Given the description of an element on the screen output the (x, y) to click on. 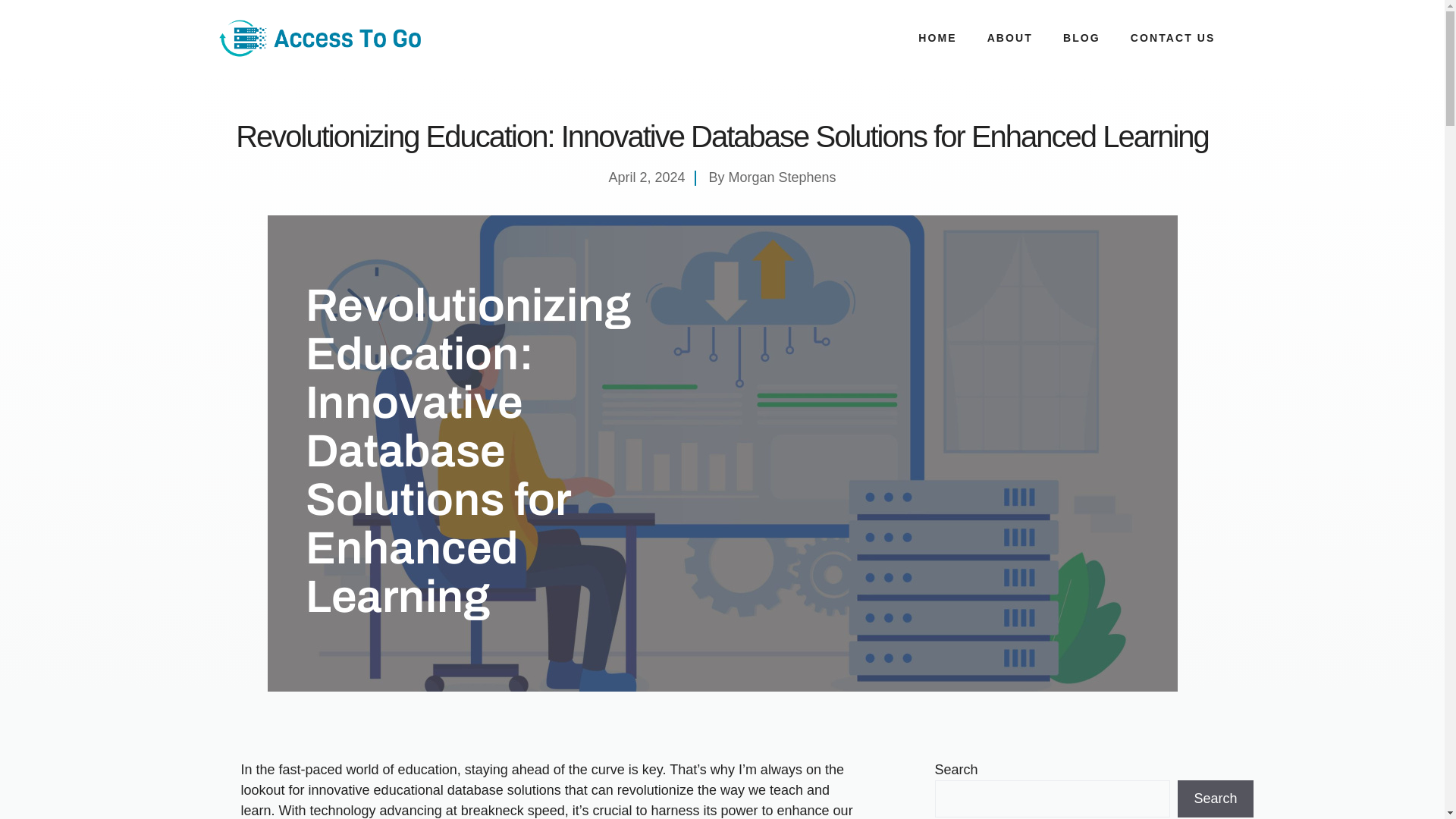
Morgan Stephens (781, 177)
BLOG (1081, 37)
HOME (936, 37)
CONTACT US (1172, 37)
ABOUT (1010, 37)
Search (1214, 798)
